Given the description of an element on the screen output the (x, y) to click on. 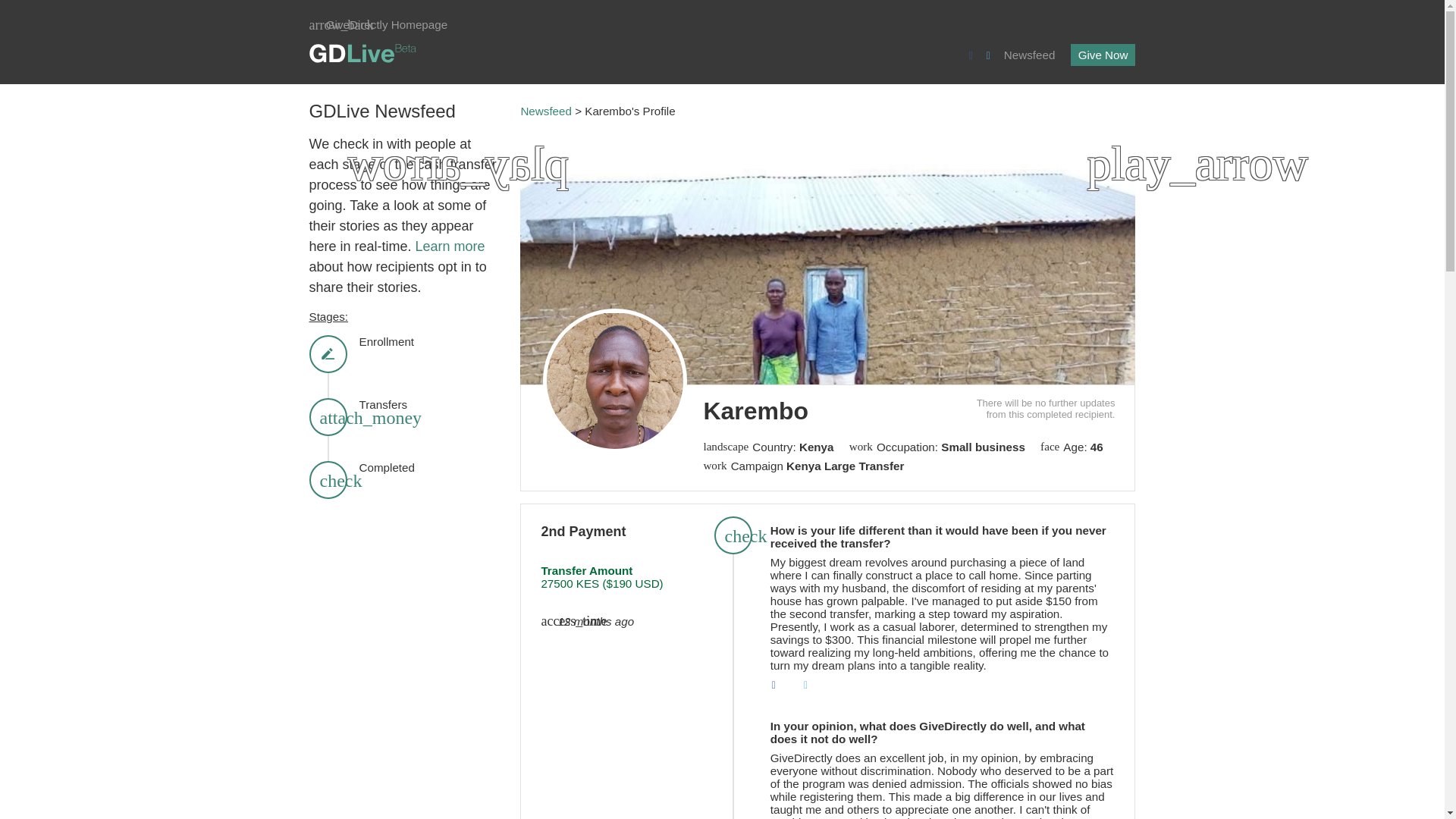
View previous recipient (544, 174)
Give Now (1102, 55)
Facebook (779, 687)
Newsfeed (545, 110)
Newsfeed (1029, 54)
View next recipient (1110, 174)
Learn more (449, 246)
Tweet (811, 687)
